Given the description of an element on the screen output the (x, y) to click on. 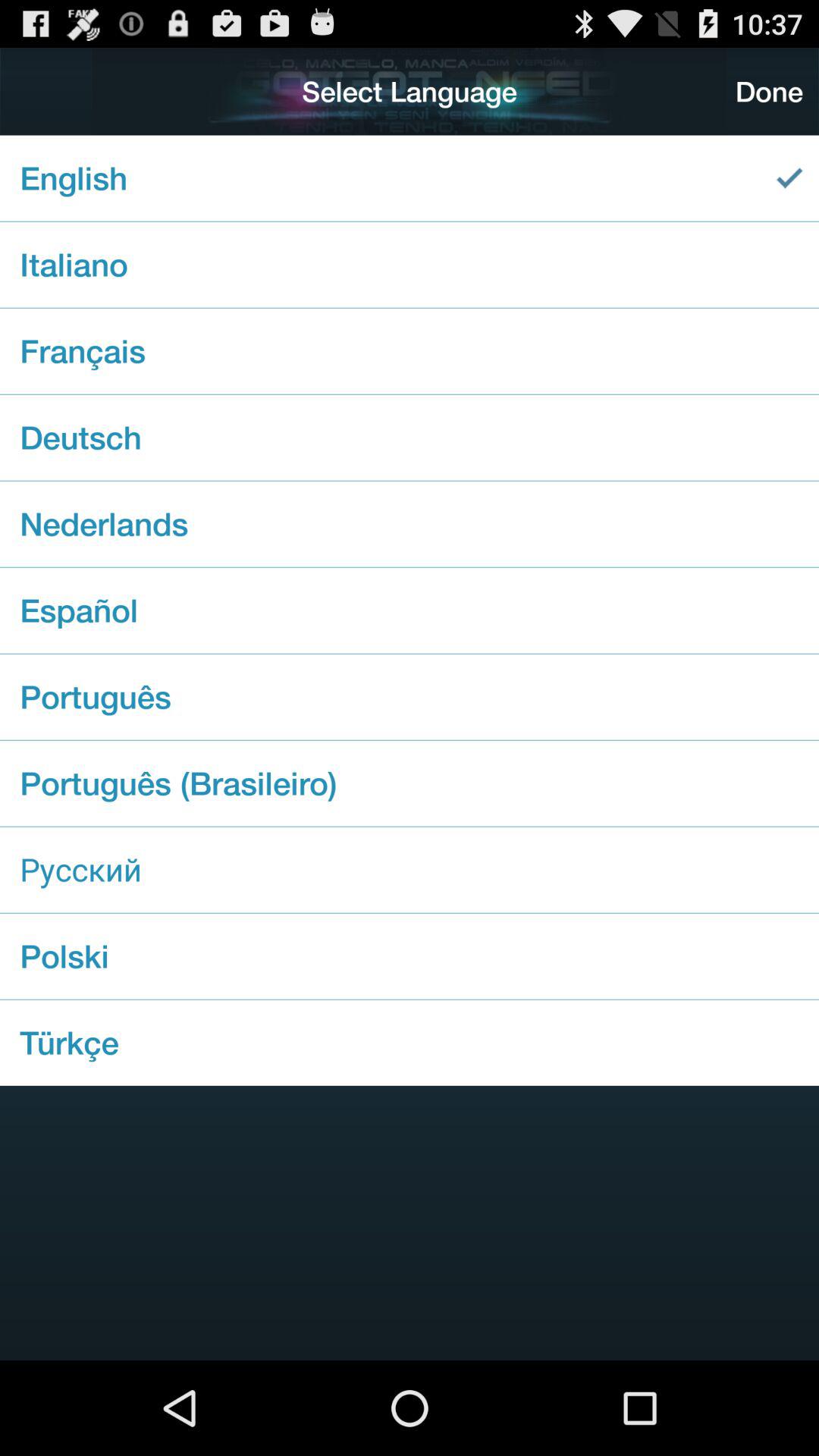
select the item below the nederlands checkbox (409, 610)
